Given the description of an element on the screen output the (x, y) to click on. 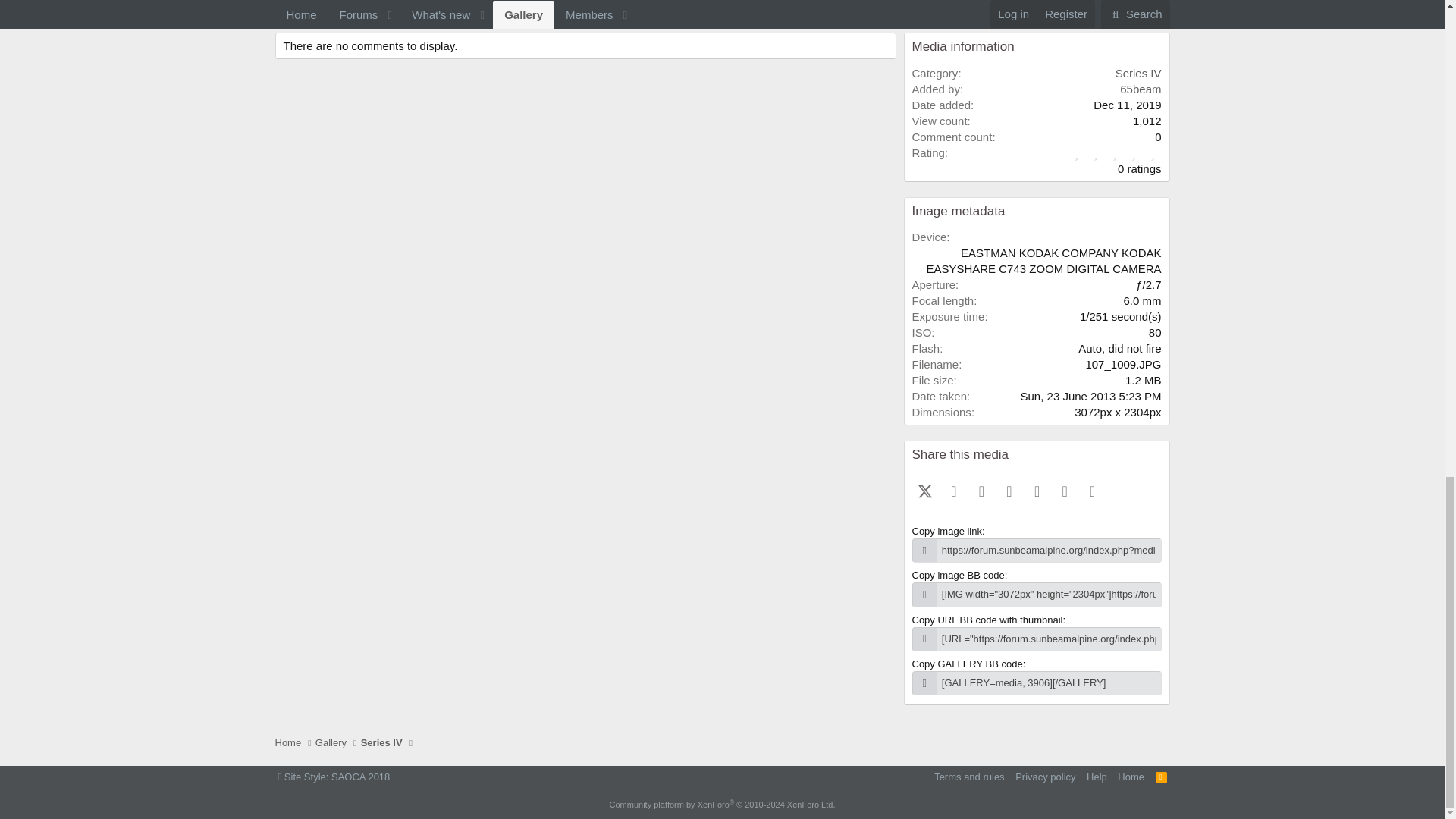
Dec 11, 2019 at 10:36 AM (1126, 104)
RSS (1161, 776)
